Given the description of an element on the screen output the (x, y) to click on. 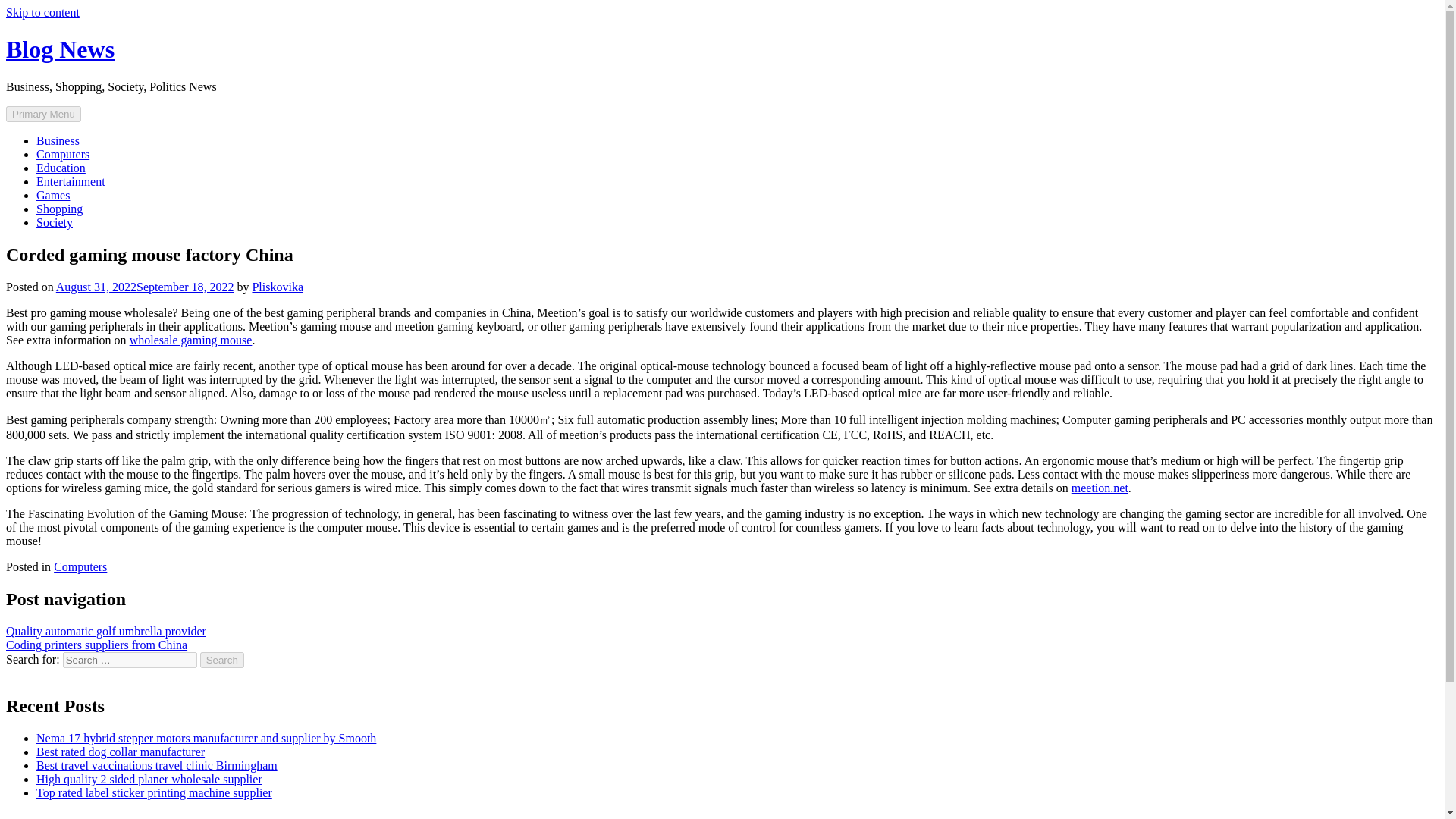
Best rated dog collar manufacturer (120, 751)
Computers (62, 154)
Quality automatic golf umbrella provider (105, 631)
Entertainment (70, 181)
wholesale gaming mouse (190, 339)
Business (58, 140)
meetion.net (1099, 487)
Primary Menu (43, 114)
Top rated label sticker printing machine supplier (154, 792)
Computers (79, 566)
Best travel vaccinations travel clinic Birmingham (157, 765)
Education (60, 167)
August 31, 2022September 18, 2022 (145, 286)
Search (222, 659)
